Given the description of an element on the screen output the (x, y) to click on. 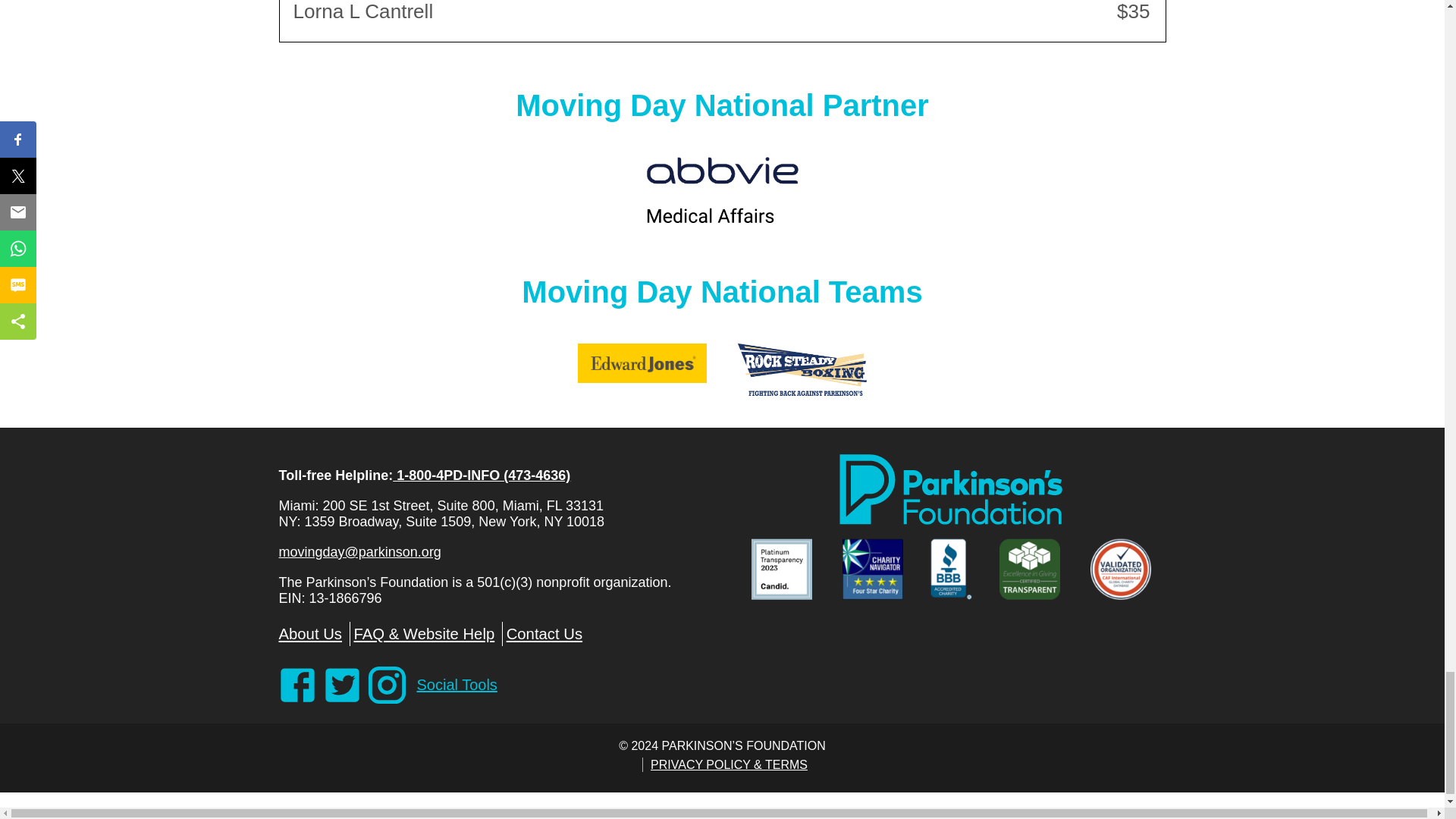
Abbvie (721, 189)
Edward-Jones-logo (642, 363)
Rock-Steady-Boxing-logo (802, 369)
